Given the description of an element on the screen output the (x, y) to click on. 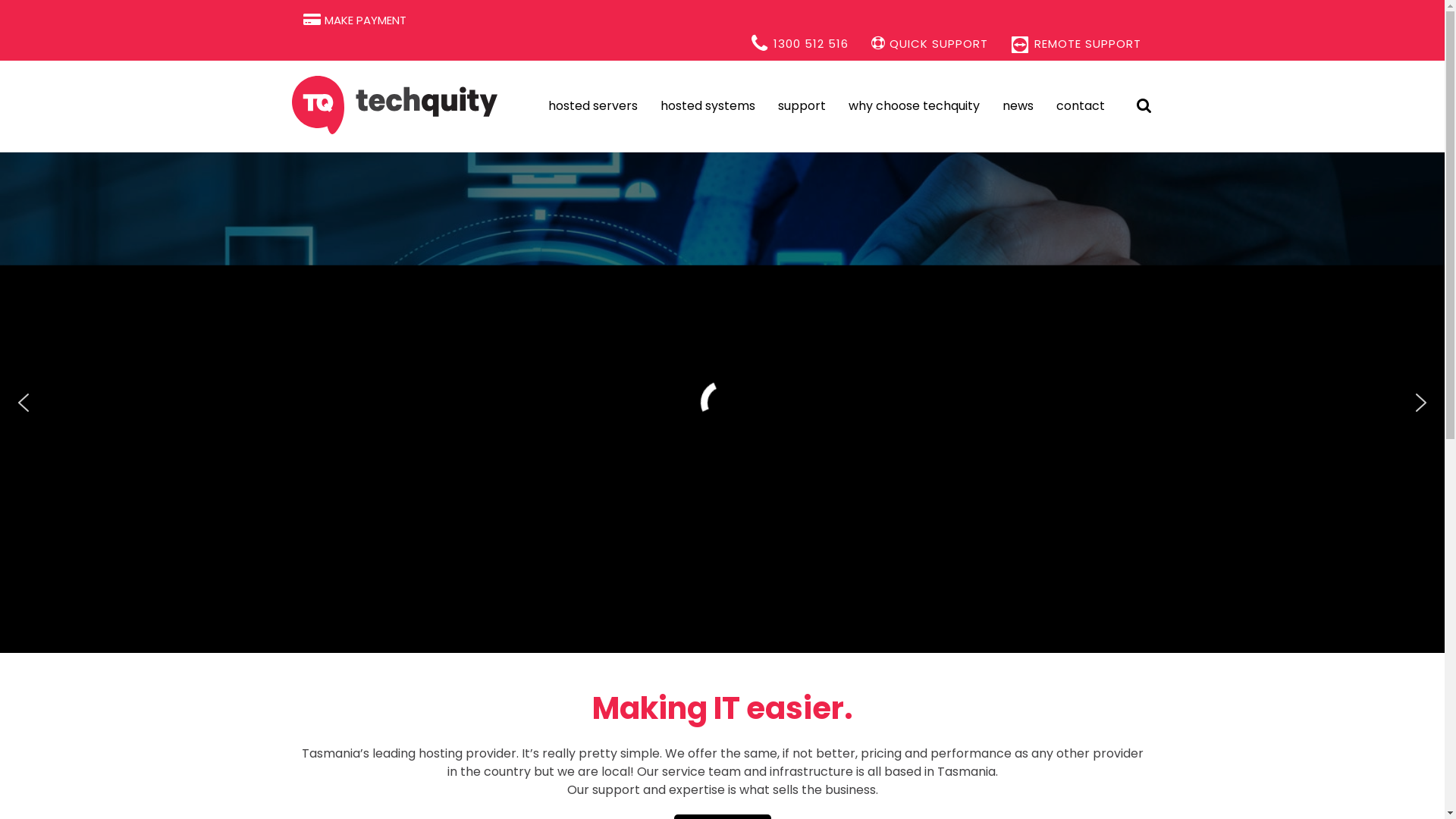
hosted servers Element type: text (592, 106)
support Element type: text (801, 106)
1300 512 516 Element type: text (799, 35)
news Element type: text (1017, 106)
why choose techquity Element type: text (914, 106)
hosted systems Element type: text (707, 106)
contact Element type: text (1080, 106)
QUICK SUPPORT Element type: text (929, 35)
